Given the description of an element on the screen output the (x, y) to click on. 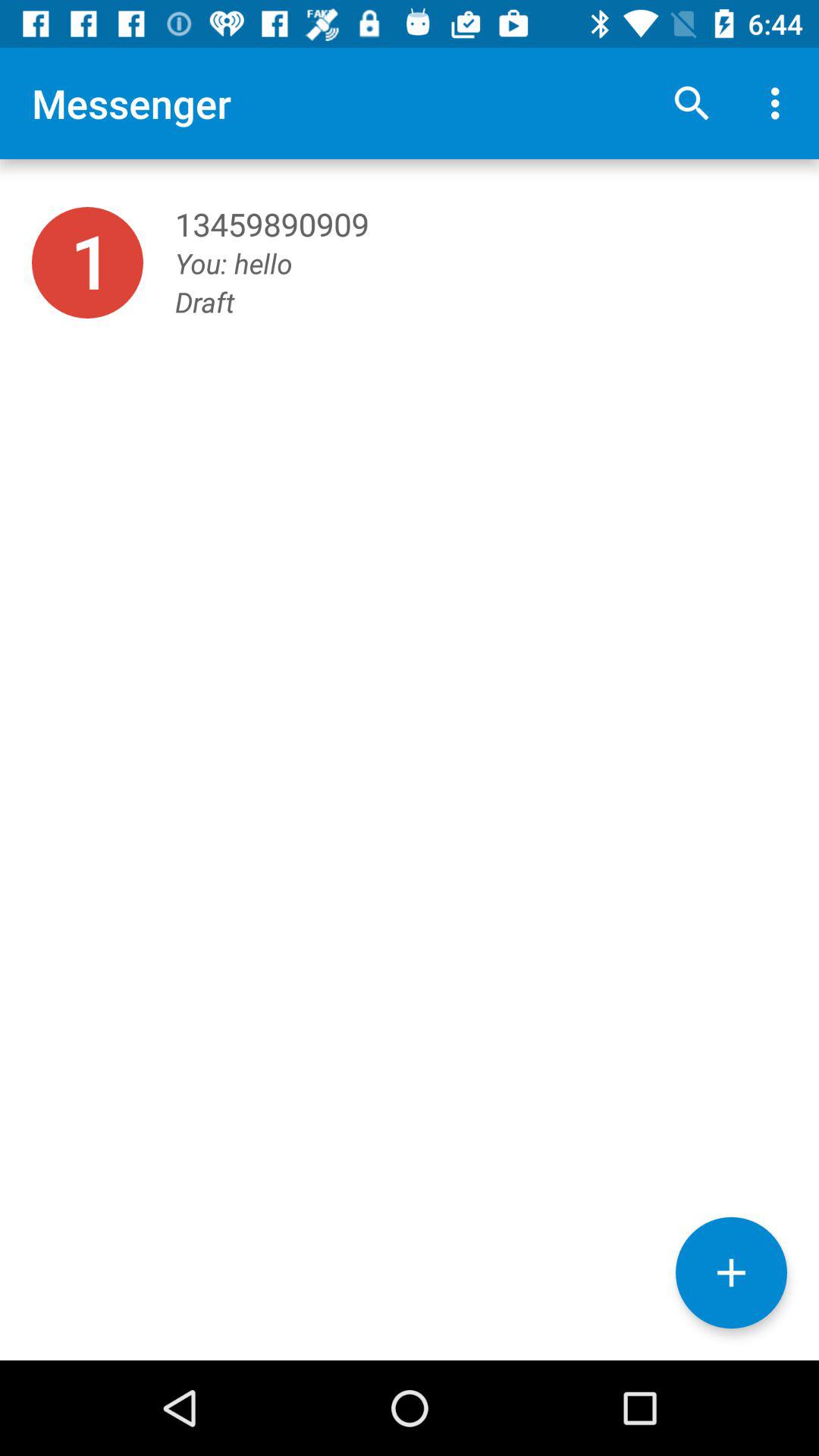
choose the item above the you: hello (691, 103)
